Given the description of an element on the screen output the (x, y) to click on. 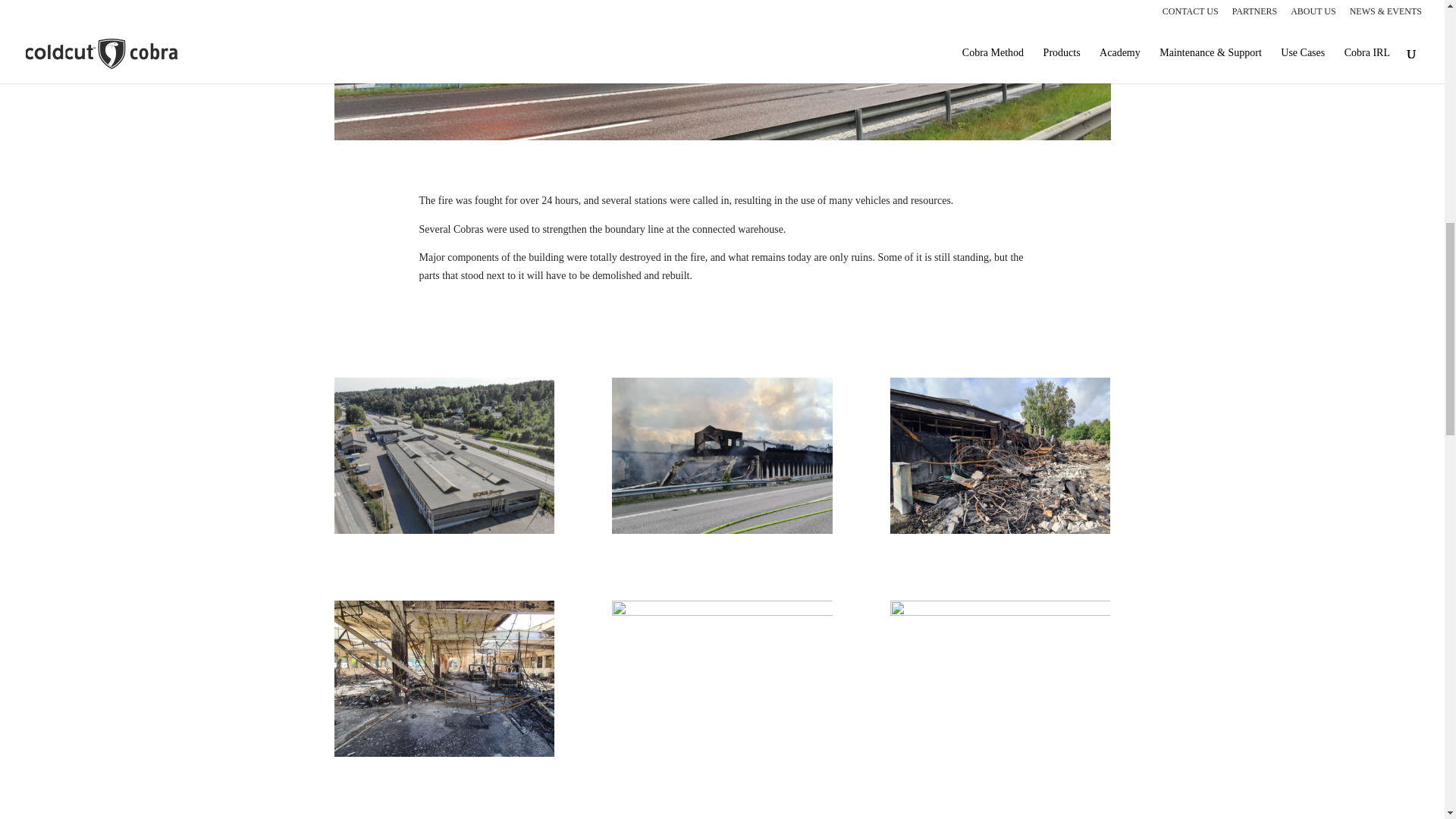
Warehouse fire, Holiday Fritid (443, 681)
Warehouse fire, Holiday Fritid (999, 678)
Warehouse fire, Holiday Fritid (443, 458)
Warehouse fire, Holiday Fritid (999, 458)
Warehouse fire, Holiday Fritid (721, 70)
Warehouse fire, Holiday Fritid (721, 458)
Warehouse fire, Holiday Fritid (721, 678)
